Given the description of an element on the screen output the (x, y) to click on. 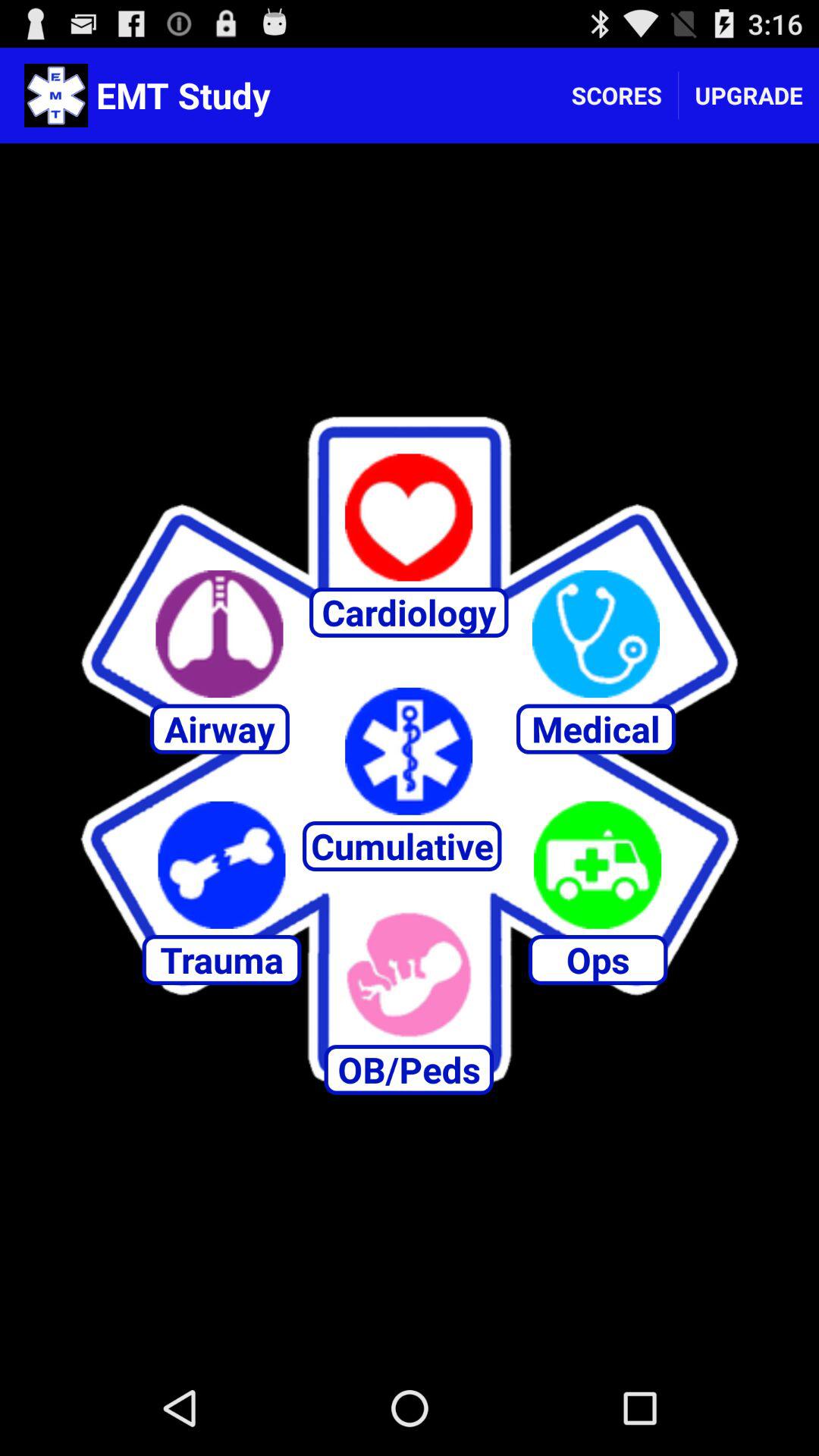
fetus icon (408, 974)
